Given the description of an element on the screen output the (x, y) to click on. 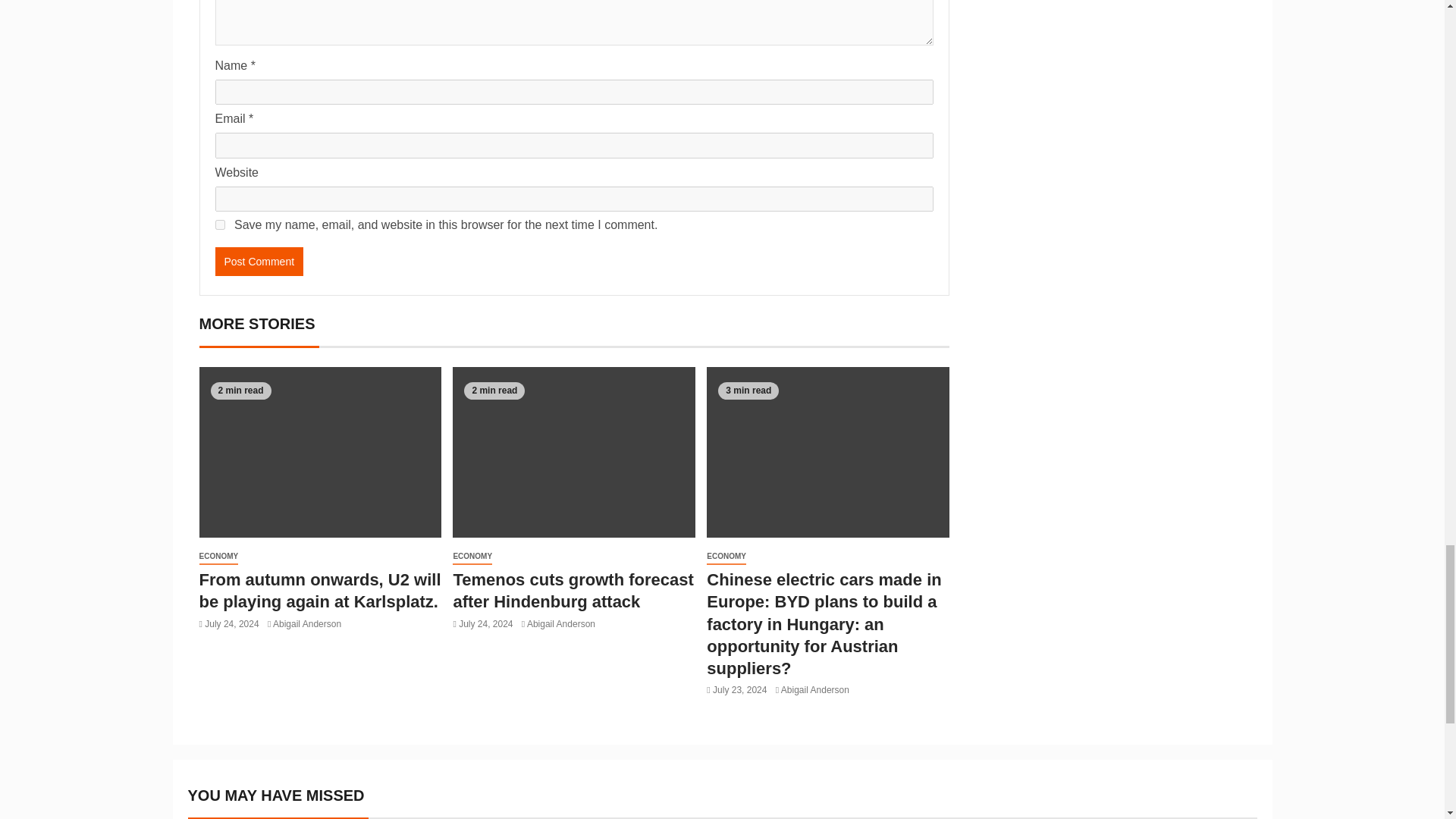
yes (220, 225)
Post Comment (259, 261)
